Given the description of an element on the screen output the (x, y) to click on. 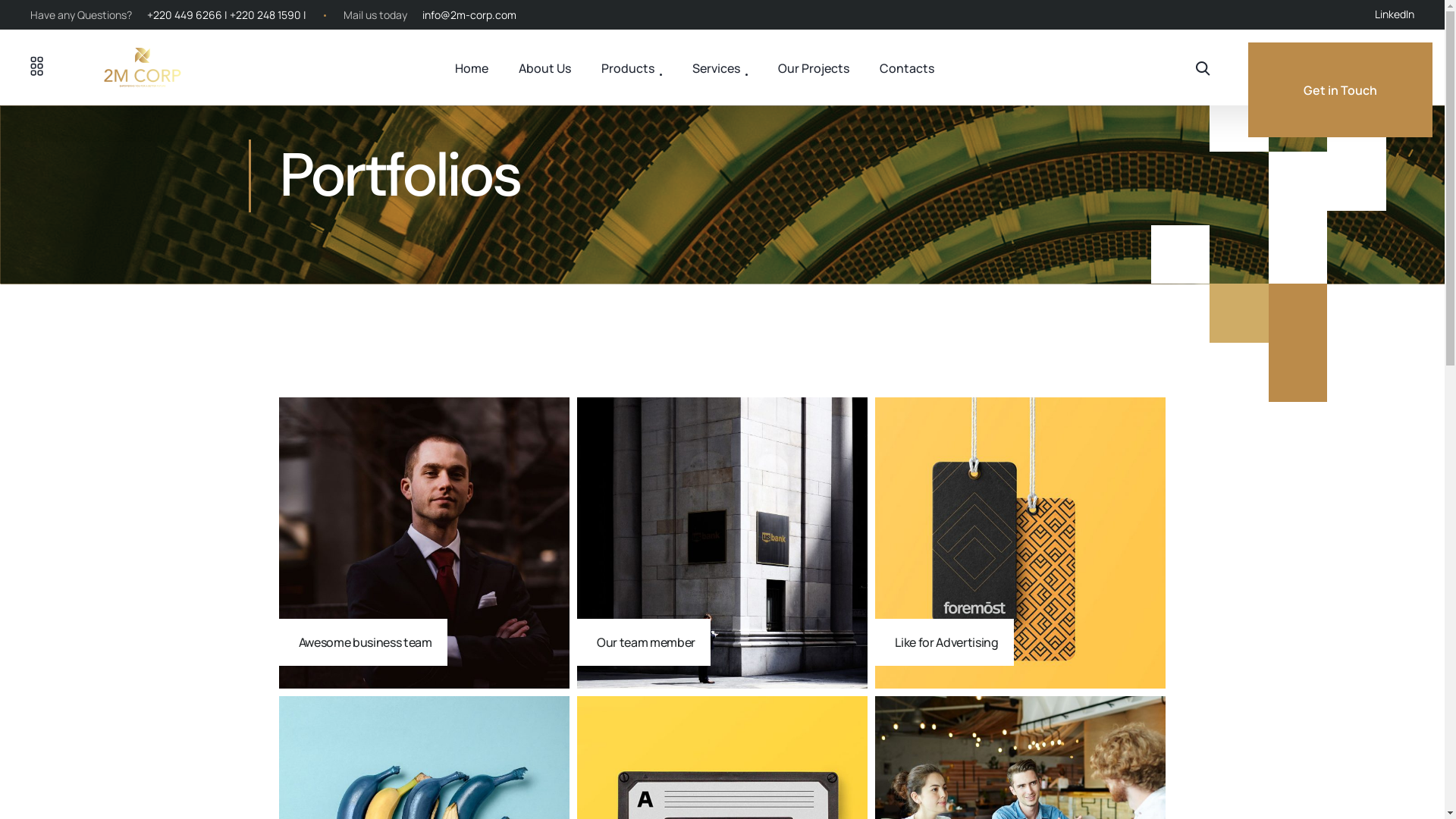
LinkedIn Element type: text (1394, 13)
Home Element type: text (471, 67)
mobiles Element type: hover (1020, 542)
info@2m-corp.com Element type: text (469, 14)
Get in Touch Element type: text (1340, 89)
Like for Advertising Element type: text (1020, 542)
marcus-lenk-80dBf0hqpy4-unsplash Element type: hover (722, 542)
ali-morshedlou-WMD64tMfc4k-unsplash Element type: hover (424, 542)
+220 449 6266 | +220 248 1590 | Element type: text (226, 14)
Contacts Element type: text (906, 67)
About Us Element type: text (544, 67)
Awesome business team Element type: text (424, 542)
Our Projects Element type: text (813, 67)
Our team member Element type: text (722, 542)
Services Element type: text (719, 67)
Products Element type: text (631, 67)
